Given the description of an element on the screen output the (x, y) to click on. 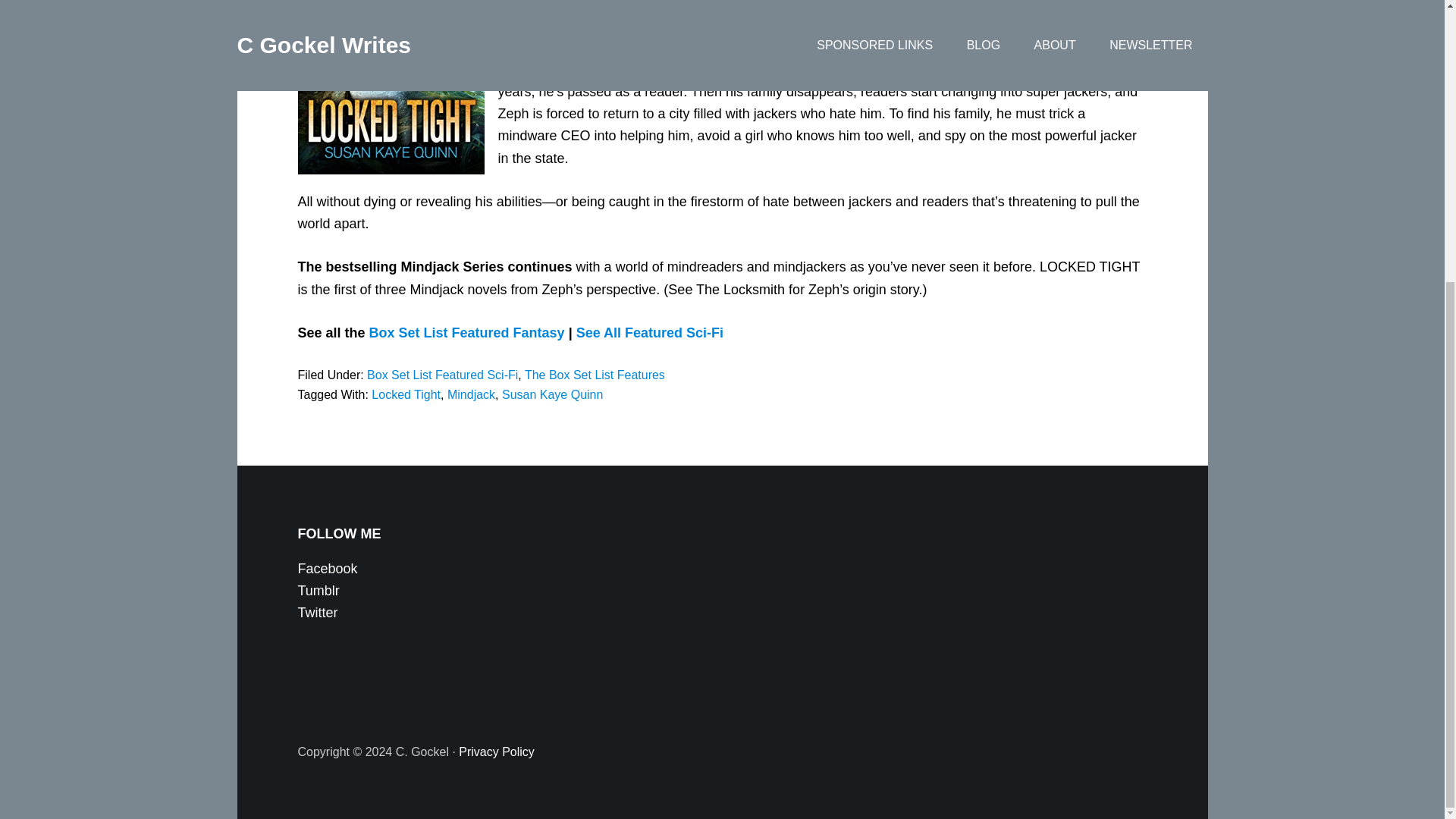
Box Set List Featured Sci-Fi (442, 374)
Twitter (317, 612)
The Box Set List Features (594, 374)
Privacy Policy (496, 751)
Tumblr (318, 590)
Locked Tight (406, 394)
Box Set List Featured Fantasy (466, 332)
Susan Kaye Quinn (552, 394)
Facebook (326, 568)
Mindjack (470, 394)
See All Featured Sci-Fi (649, 332)
